Given the description of an element on the screen output the (x, y) to click on. 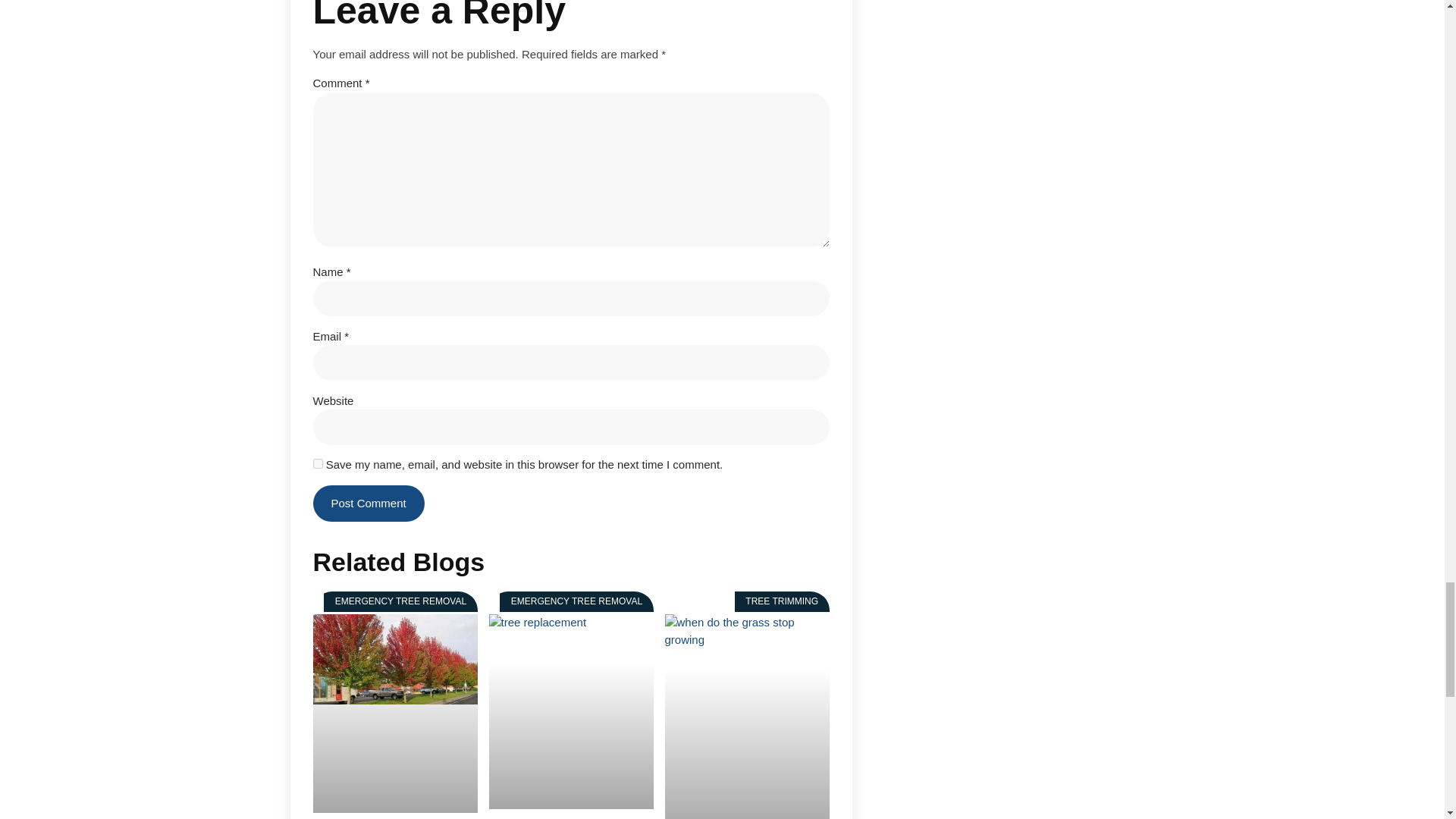
Post Comment (368, 503)
Post Comment (368, 503)
yes (317, 463)
